Given the description of an element on the screen output the (x, y) to click on. 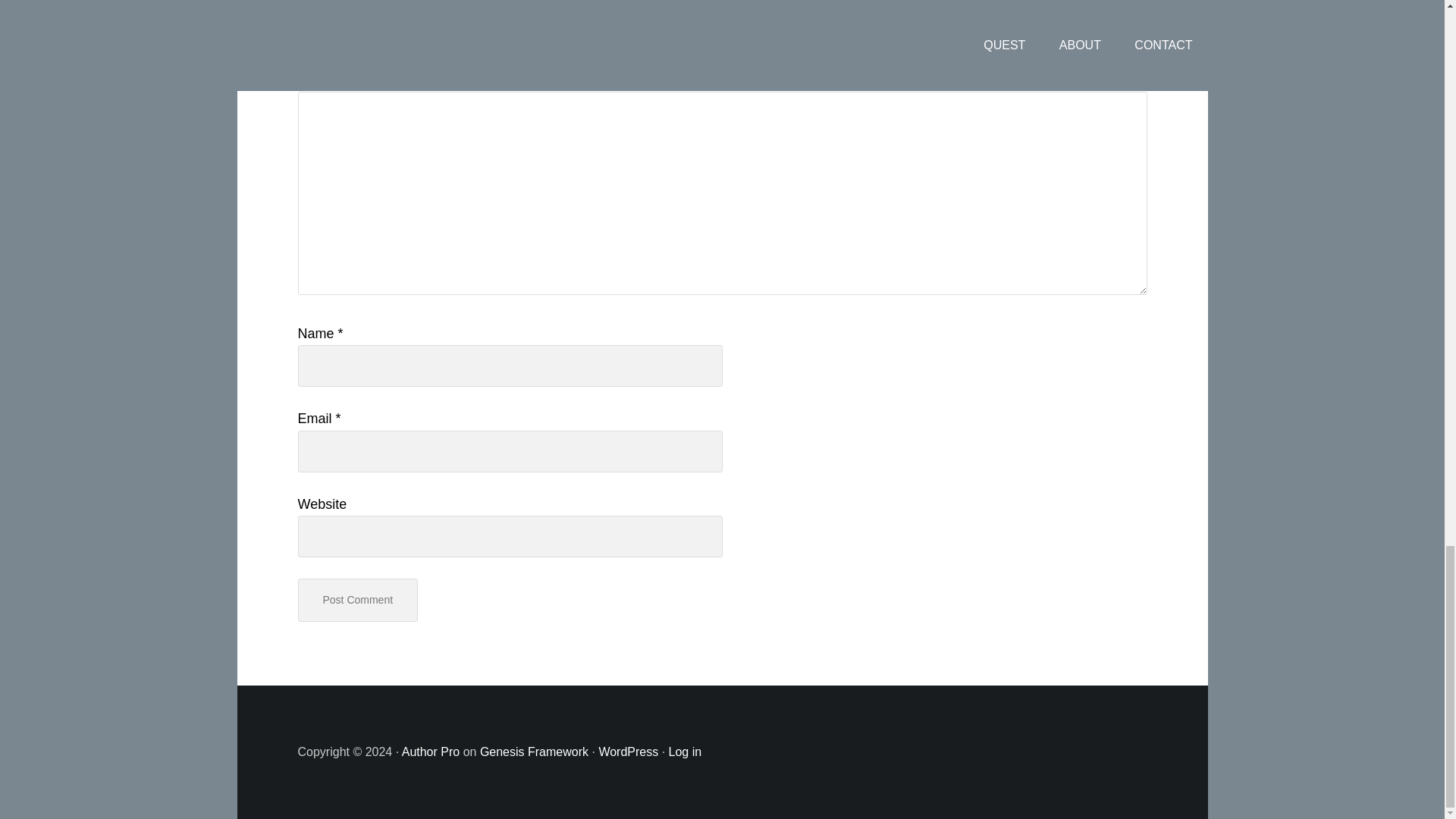
Genesis Framework (534, 751)
Author Pro (430, 751)
Post Comment (357, 599)
Post Comment (357, 599)
Log in (684, 751)
WordPress (628, 751)
